Given the description of an element on the screen output the (x, y) to click on. 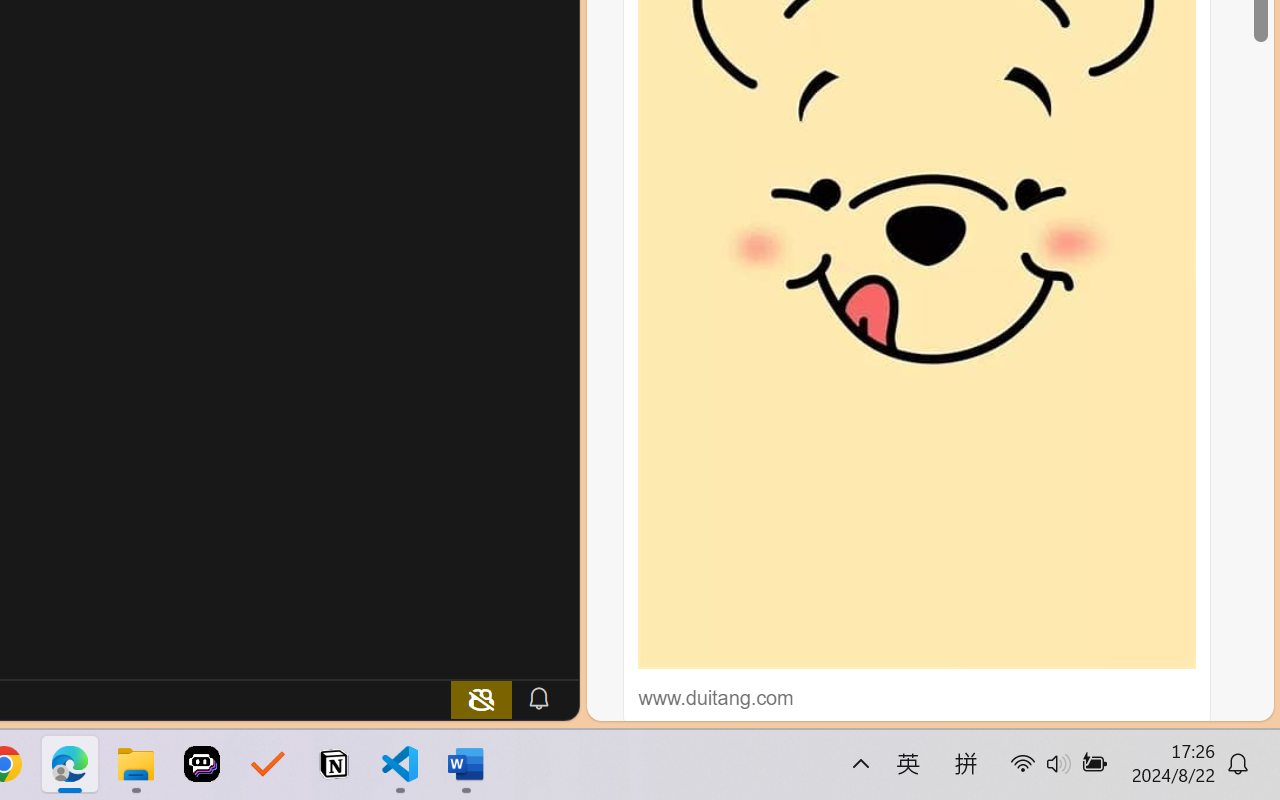
Notifications (537, 698)
copilot-notconnected, Copilot error (click for details) (481, 698)
